Given the description of an element on the screen output the (x, y) to click on. 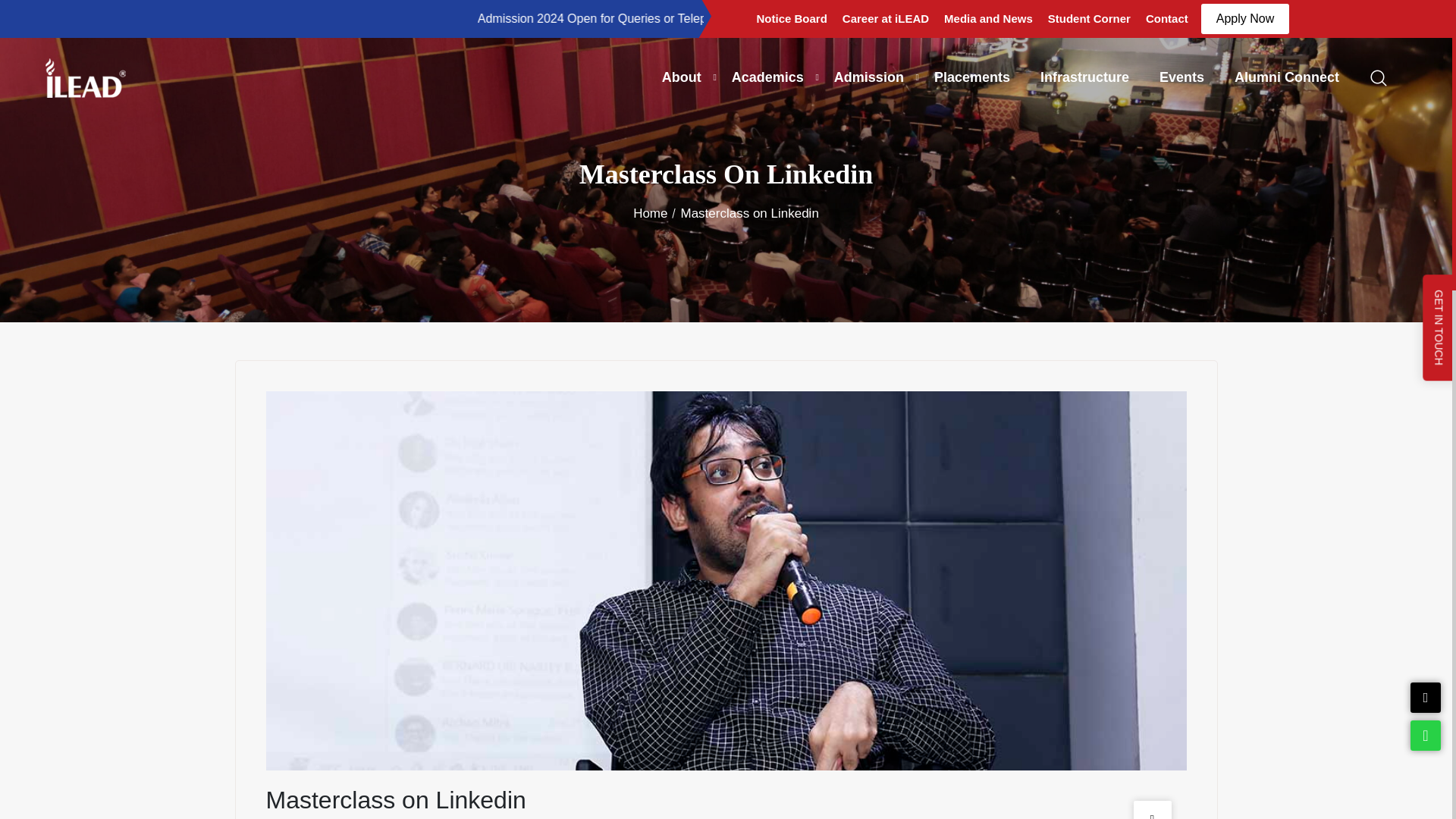
Notice Board (791, 18)
Media and News (988, 18)
Career at iLEAD (885, 18)
Student Corner (1089, 18)
Contact (1166, 18)
LogoH1 (85, 77)
Apply Now (1244, 19)
Academics (767, 77)
